Given the description of an element on the screen output the (x, y) to click on. 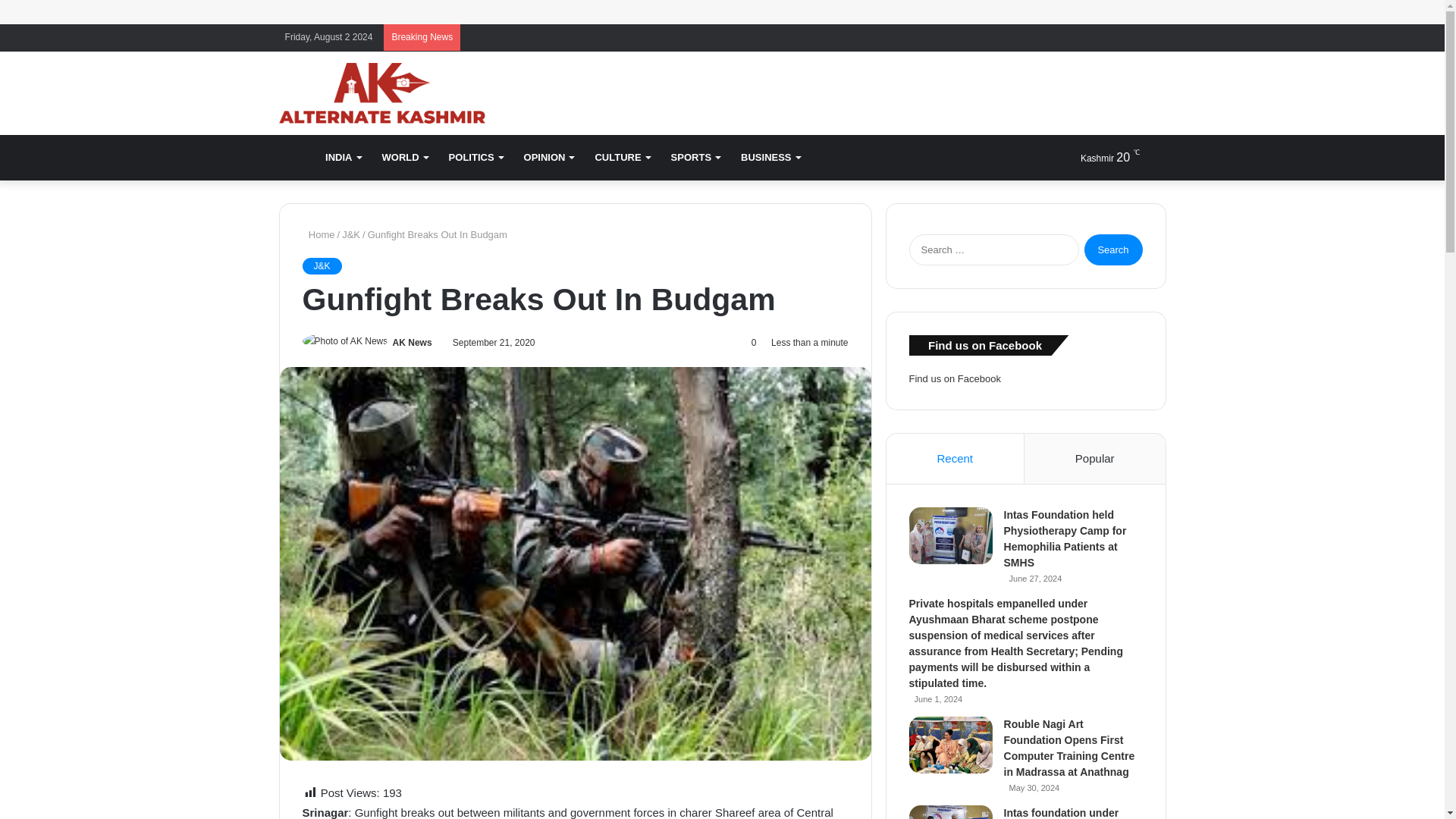
WORLD (404, 157)
Alternate Kashmir (381, 93)
Search (1113, 249)
SPORTS (695, 157)
BUSINESS (769, 157)
POLITICS (475, 157)
AK News (412, 342)
INDIA (342, 157)
CULTURE (621, 157)
Scattered Clouds (1096, 157)
Search (1113, 249)
OPINION (549, 157)
